Given the description of an element on the screen output the (x, y) to click on. 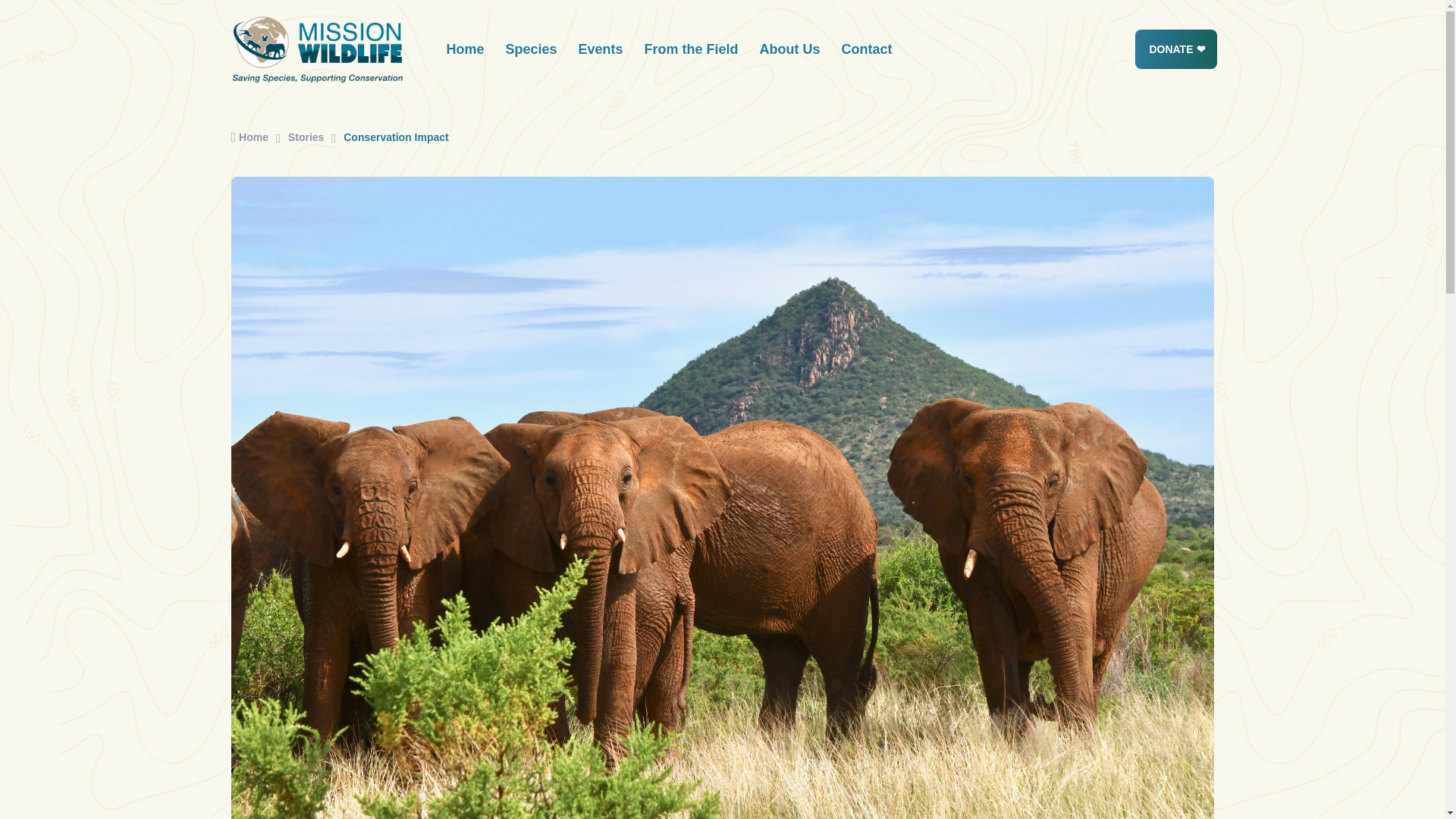
Contact (866, 48)
Home (465, 48)
Species (531, 48)
About Us (790, 48)
Events (600, 48)
Home (248, 136)
Stories (305, 136)
From the Field (691, 48)
